Given the description of an element on the screen output the (x, y) to click on. 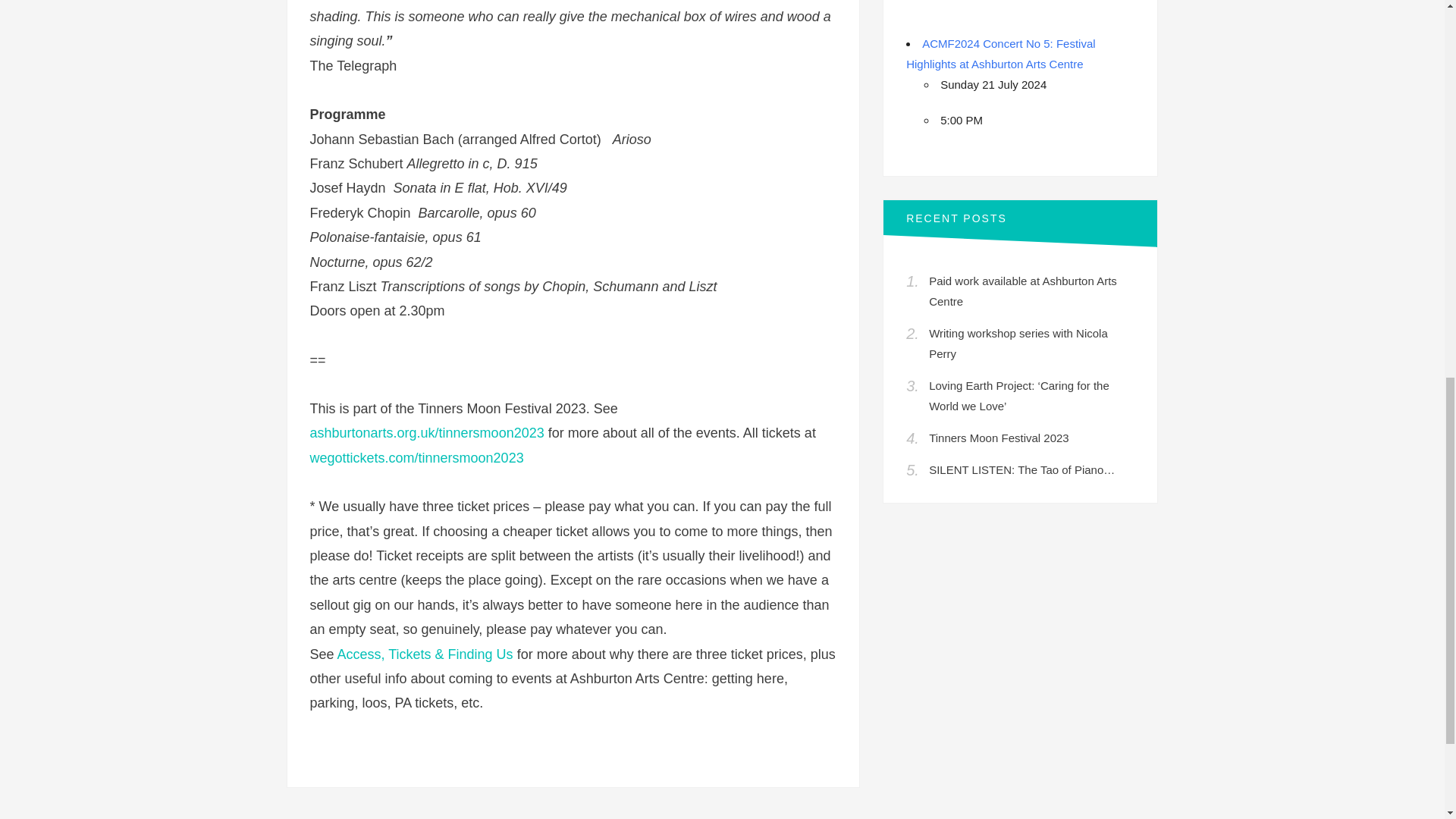
Tinners Moon Festival 2023 (998, 437)
Writing workshop series with Nicola Perry (1018, 343)
Paid work available at Ashburton Arts Centre (1022, 290)
